Given the description of an element on the screen output the (x, y) to click on. 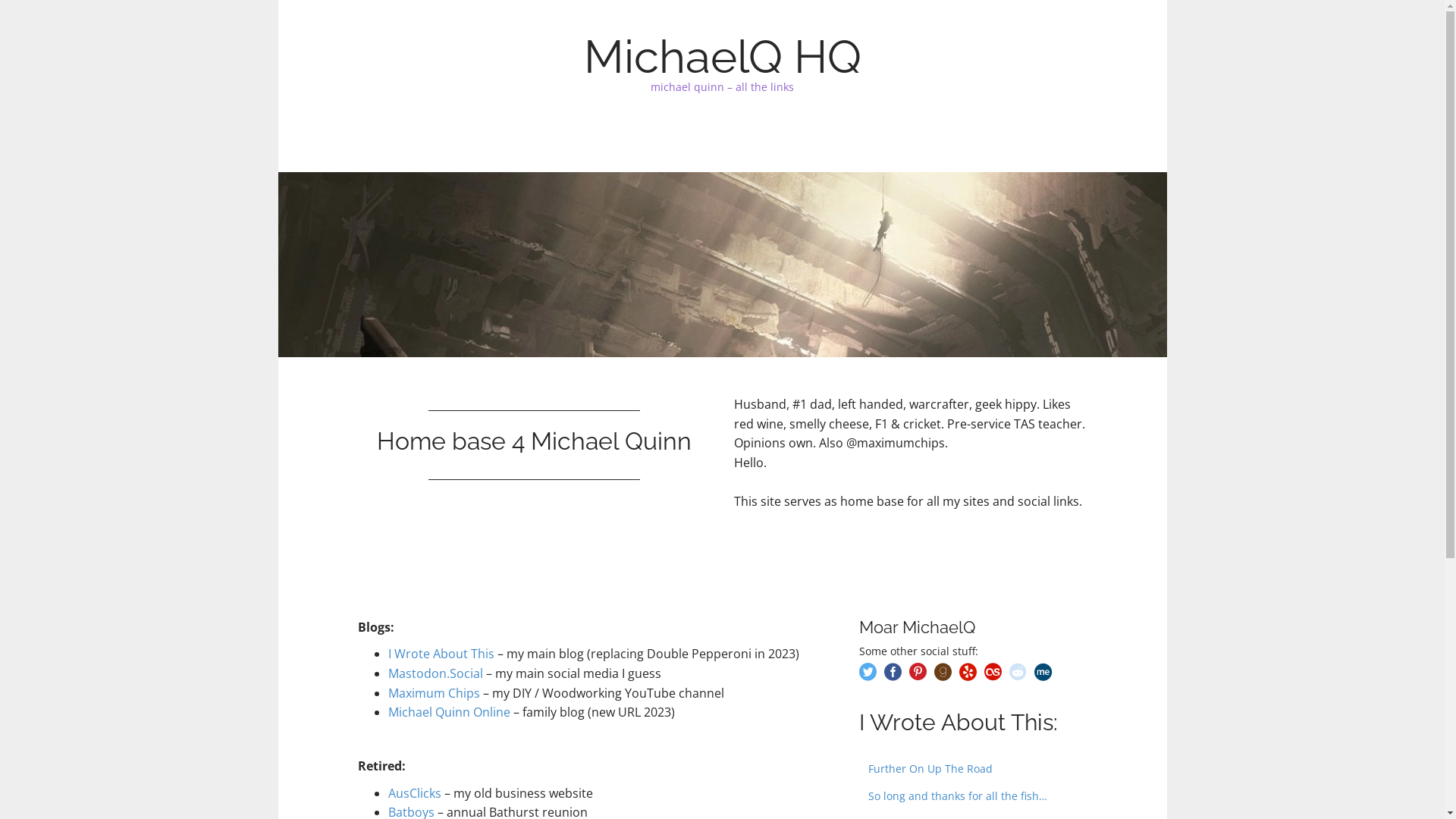
Skip to content Element type: text (357, 138)
MichaelQ HQ Element type: text (722, 56)
I Wrote About This Element type: text (441, 653)
Maximum Chips Element type: text (434, 692)
Michael Quinn Online Element type: text (449, 711)
AusClicks Element type: text (414, 792)
Mastodon.Social Element type: text (435, 673)
